Given the description of an element on the screen output the (x, y) to click on. 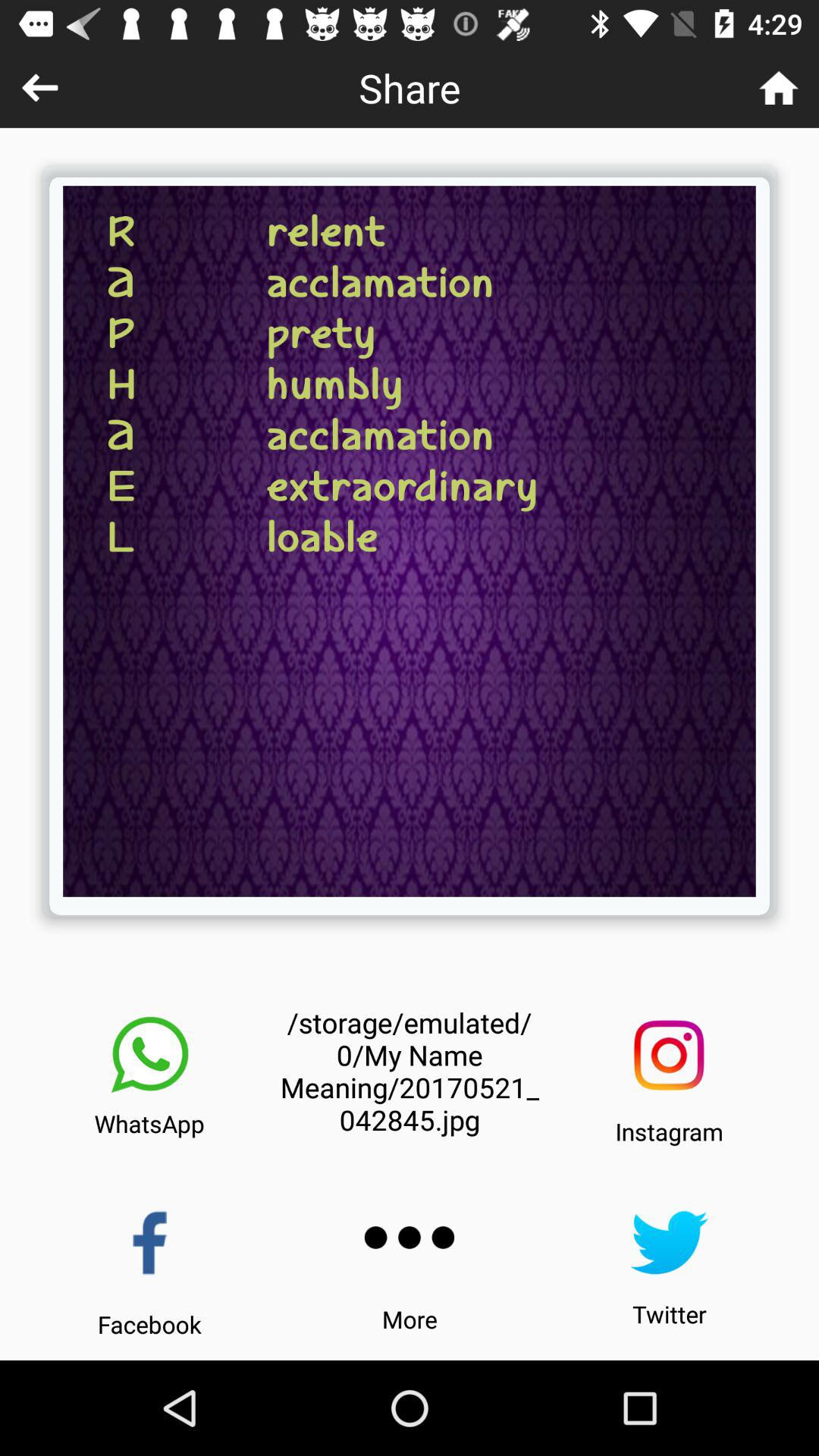
view app 's facebook (149, 1242)
